Given the description of an element on the screen output the (x, y) to click on. 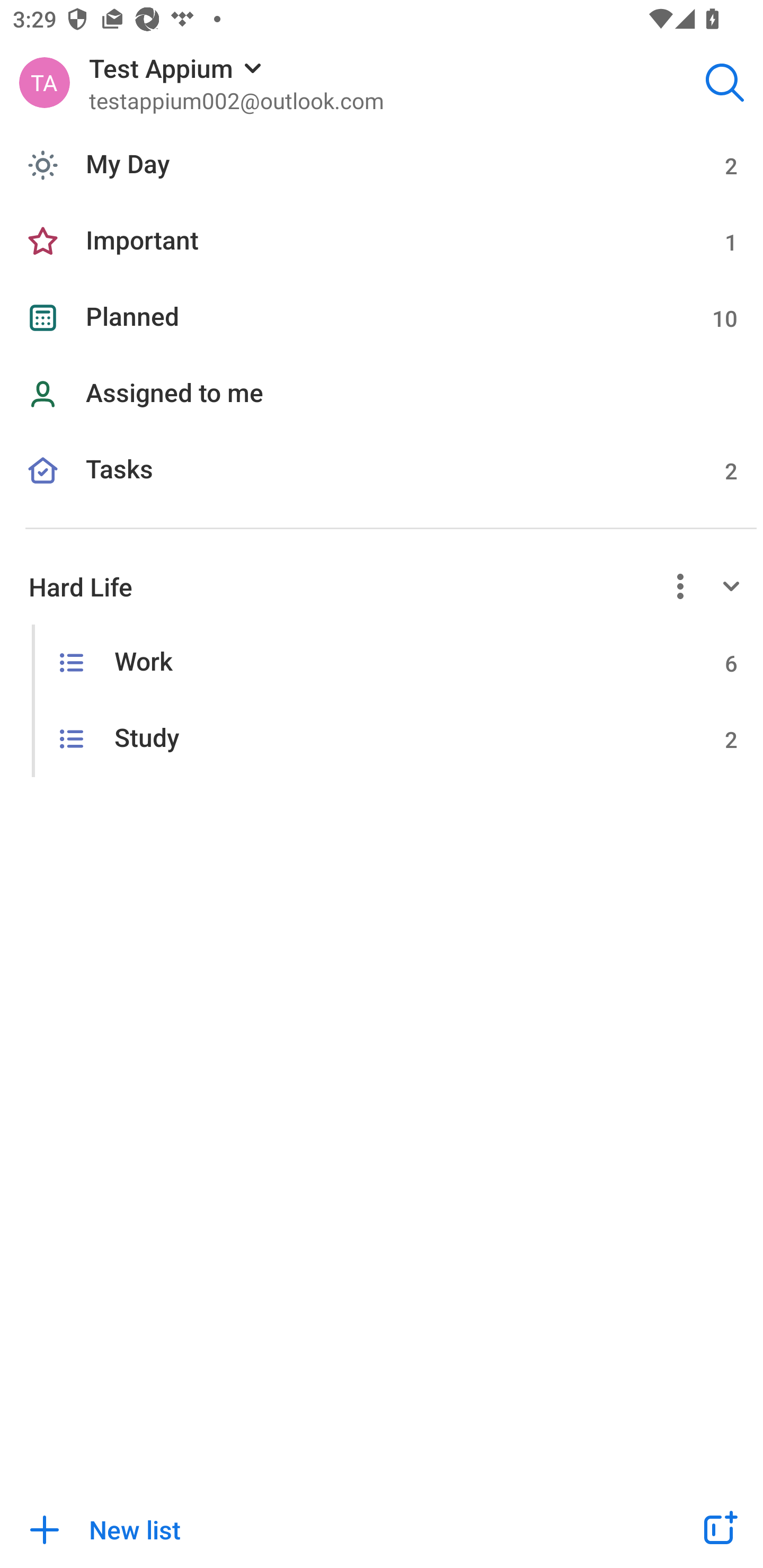
Work, 6 tasks Work 6 (381, 662)
